Given the description of an element on the screen output the (x, y) to click on. 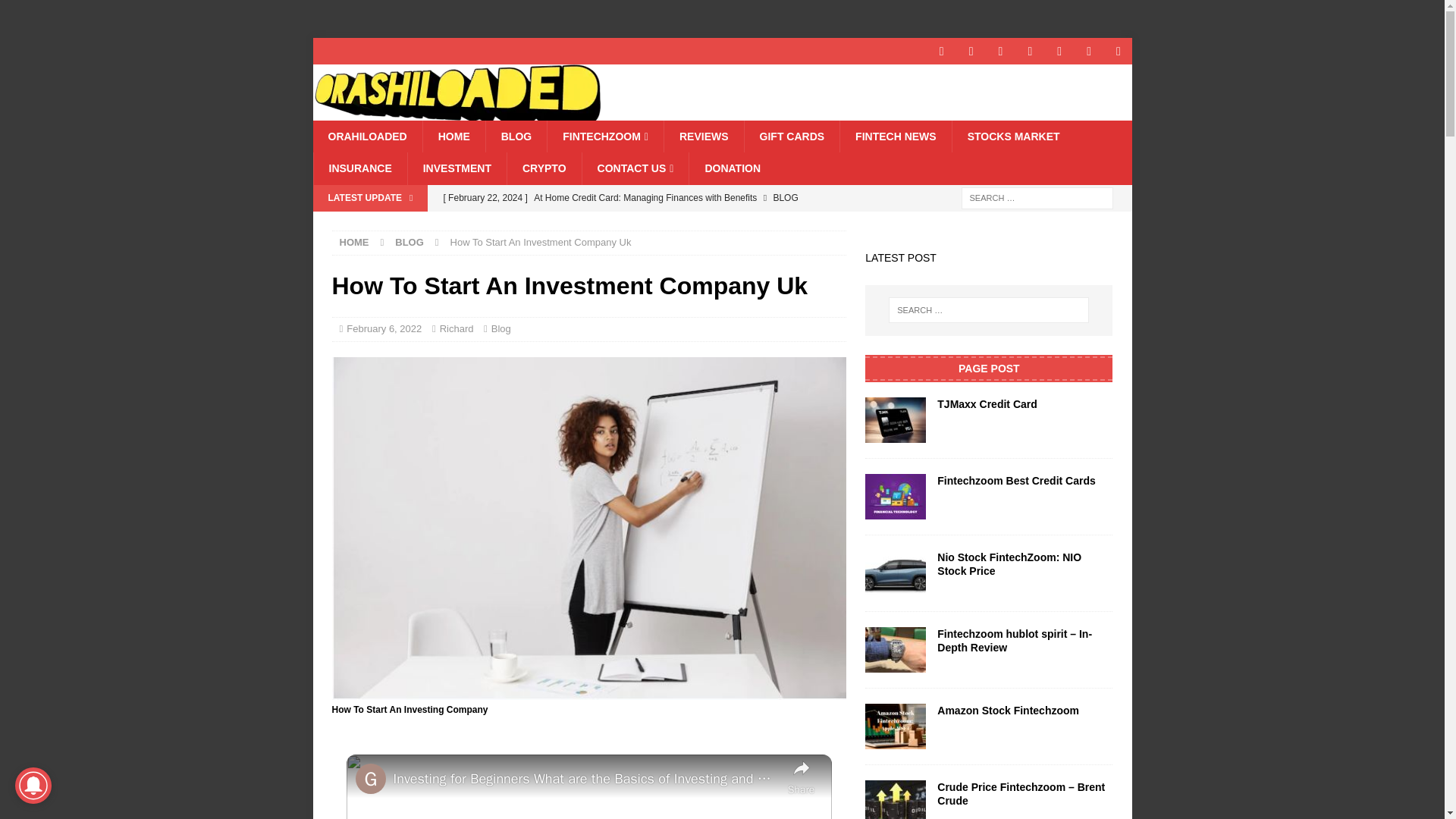
ORAHILOADED (367, 136)
FINTECHZOOM (605, 136)
At Home Credit Card: Managing Finances with Benefits (638, 197)
Orashiloaded (457, 111)
BLOG (515, 136)
HOME (453, 136)
